Given the description of an element on the screen output the (x, y) to click on. 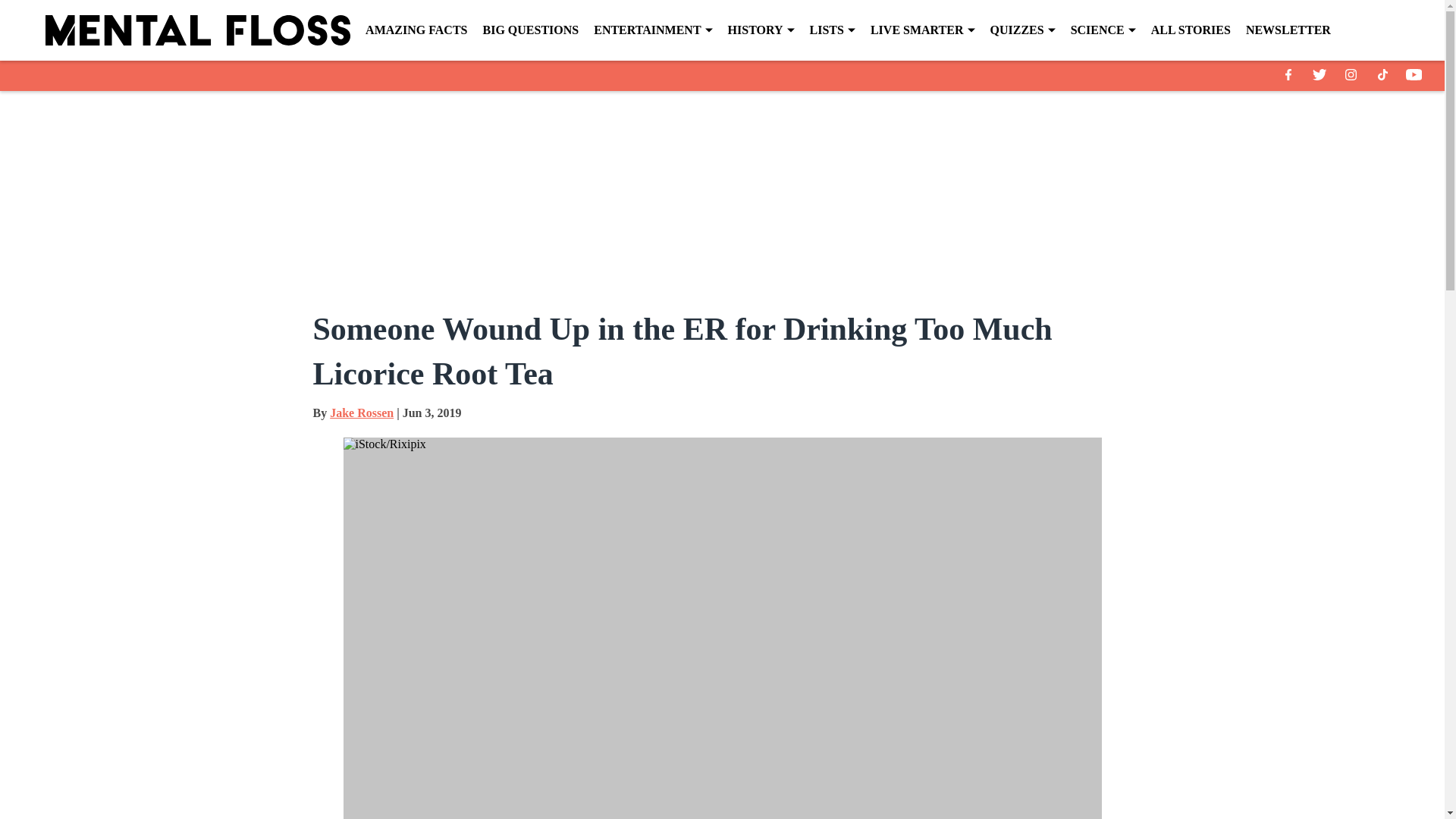
BIG QUESTIONS (529, 30)
NEWSLETTER (1288, 30)
ALL STORIES (1190, 30)
AMAZING FACTS (416, 30)
